Given the description of an element on the screen output the (x, y) to click on. 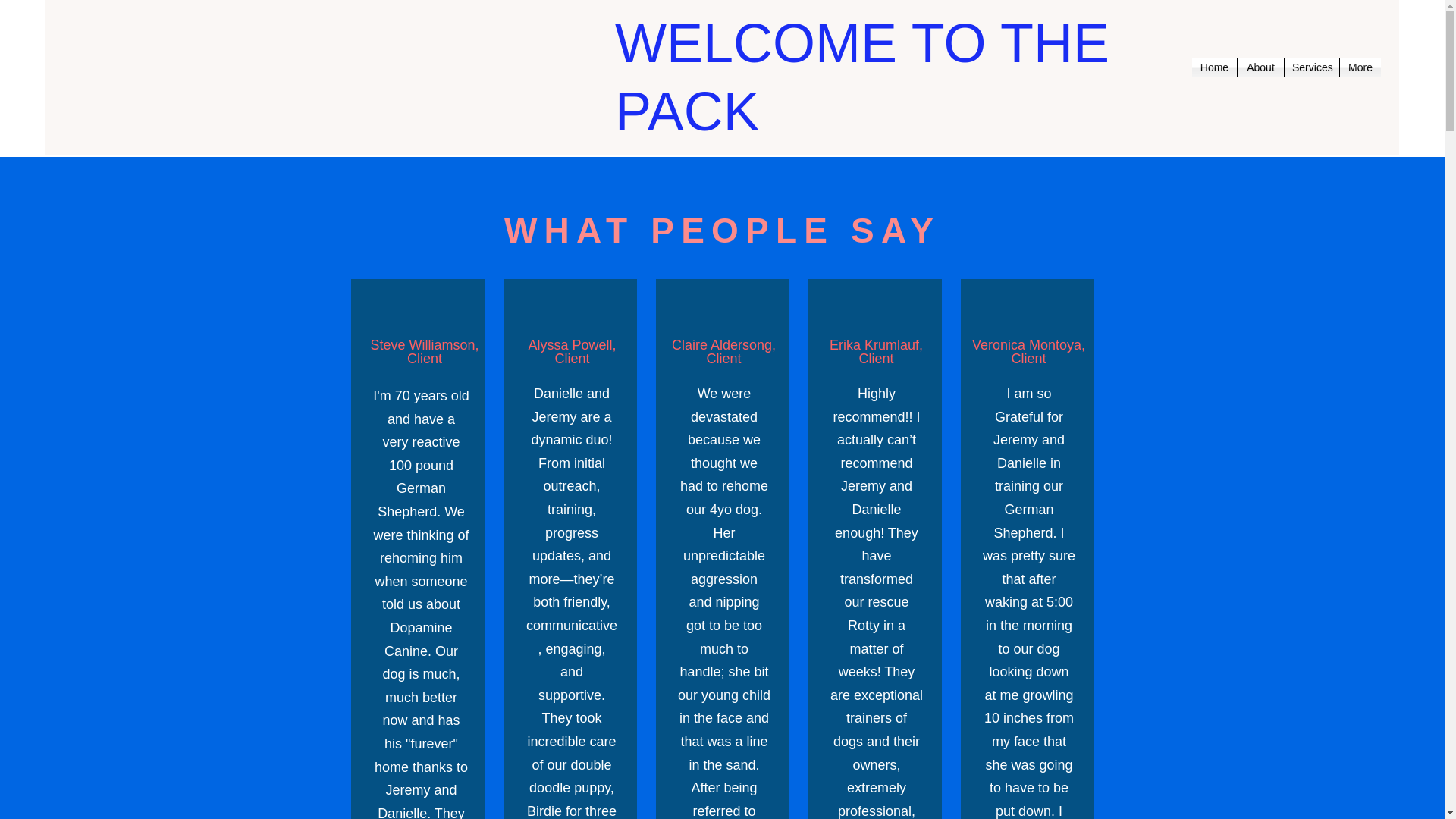
About (1260, 67)
Home (1214, 67)
Services (1311, 67)
